Given the description of an element on the screen output the (x, y) to click on. 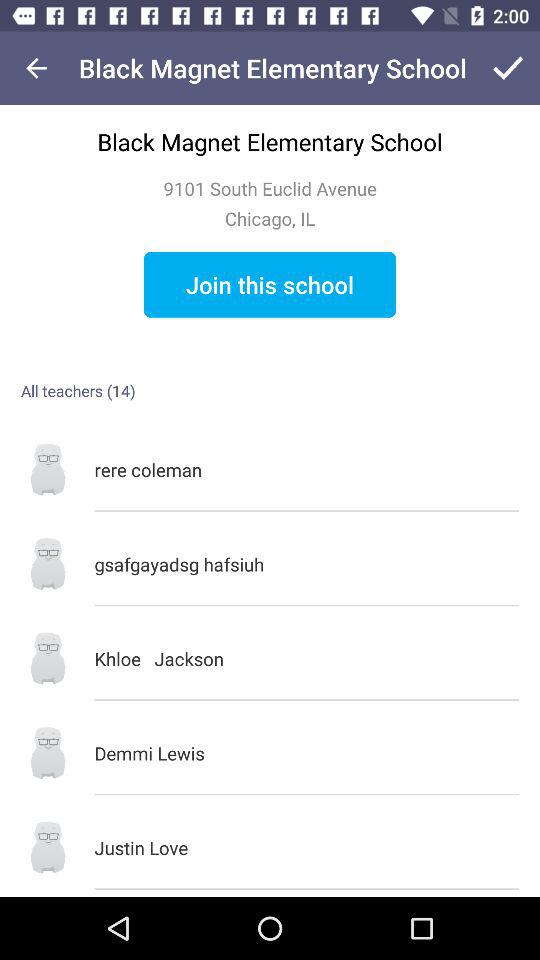
turn off icon above rere coleman item (270, 284)
